Given the description of an element on the screen output the (x, y) to click on. 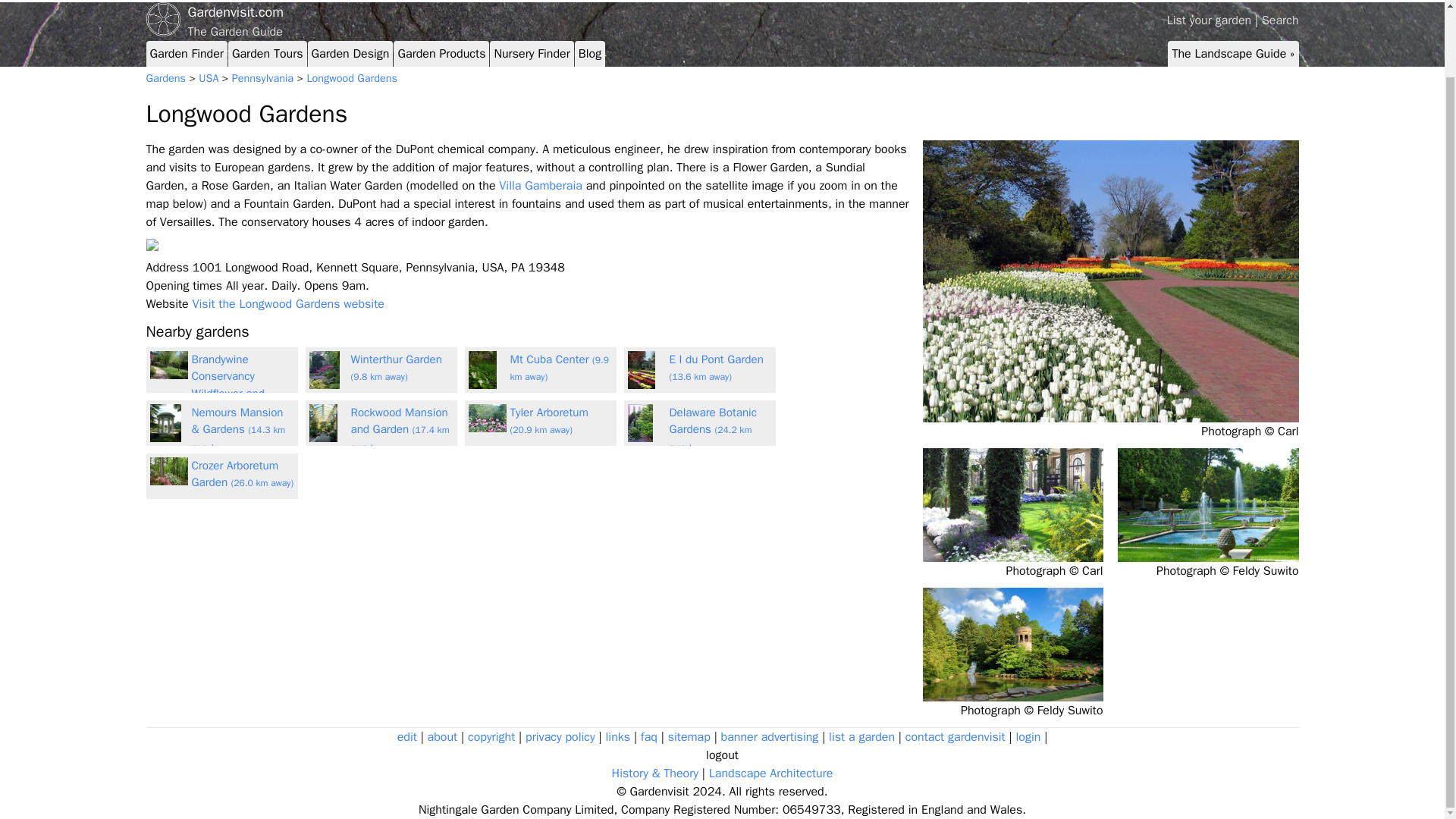
Search (1280, 20)
Garden Products (440, 54)
Blog (589, 54)
Garden Finder (186, 54)
Garden Design (350, 54)
Gardenvisit.com (721, 12)
Nursery Finder (531, 54)
Garden Tours (266, 54)
List your garden (1209, 20)
